Given the description of an element on the screen output the (x, y) to click on. 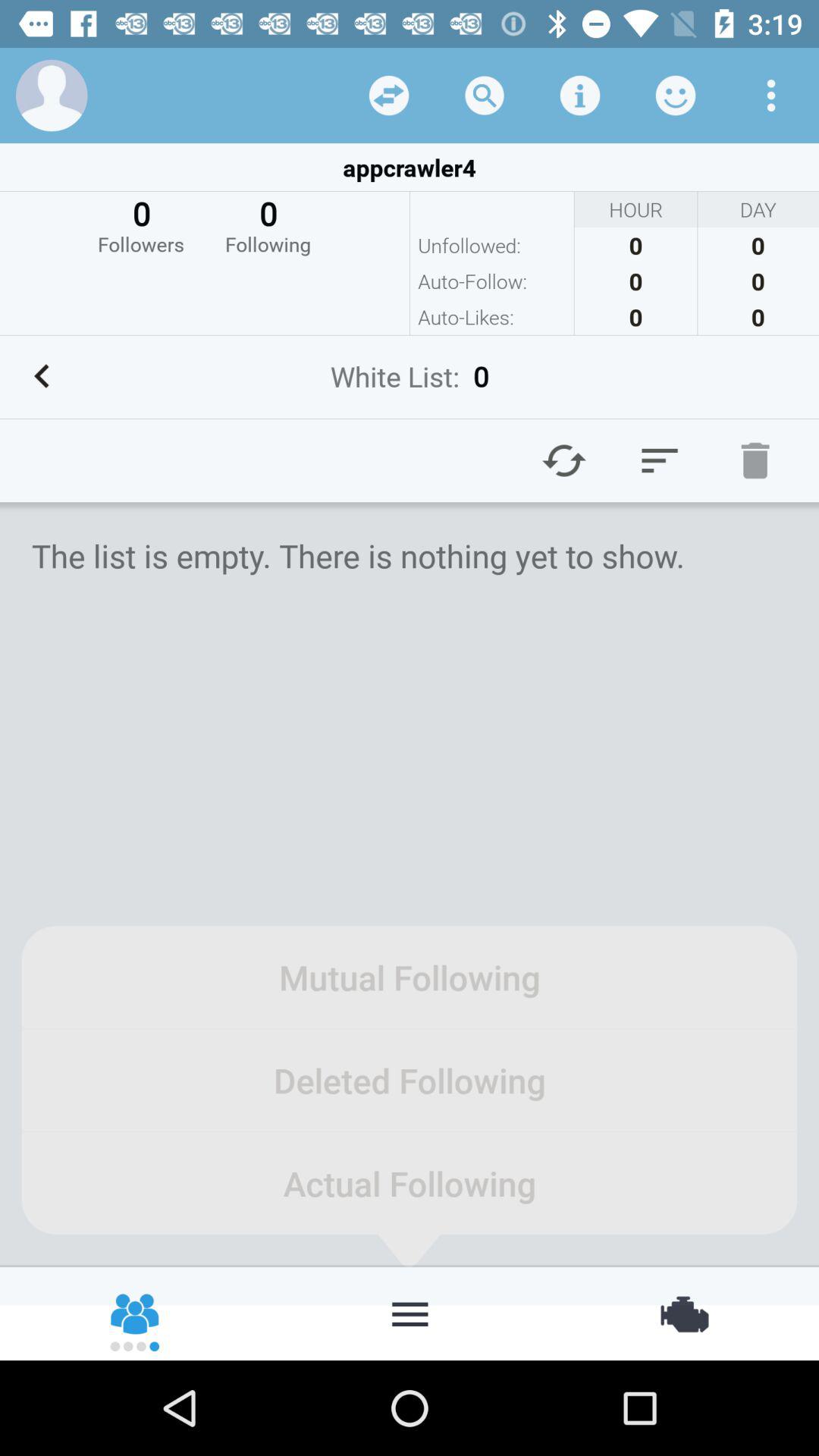
menu icon (659, 460)
